Given the description of an element on the screen output the (x, y) to click on. 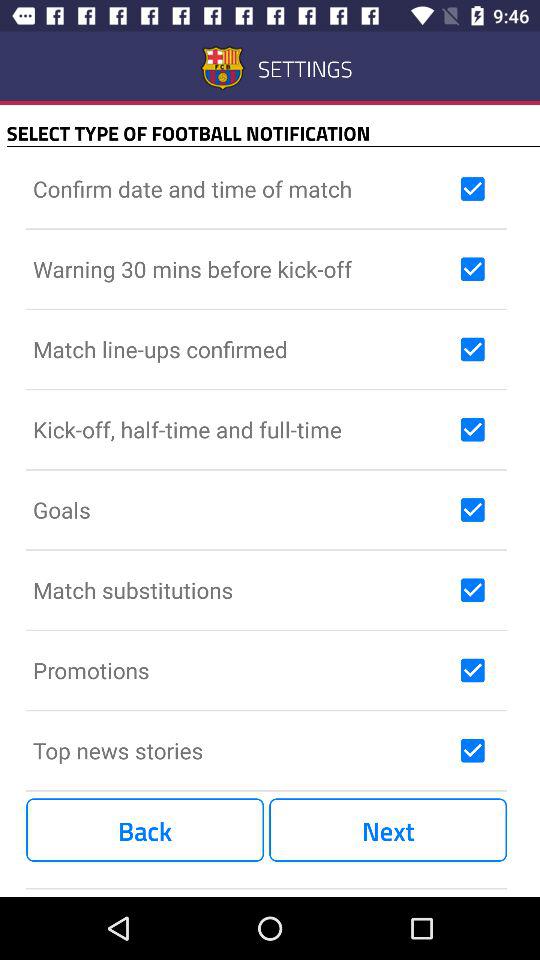
open item to the right of the back icon (388, 829)
